Given the description of an element on the screen output the (x, y) to click on. 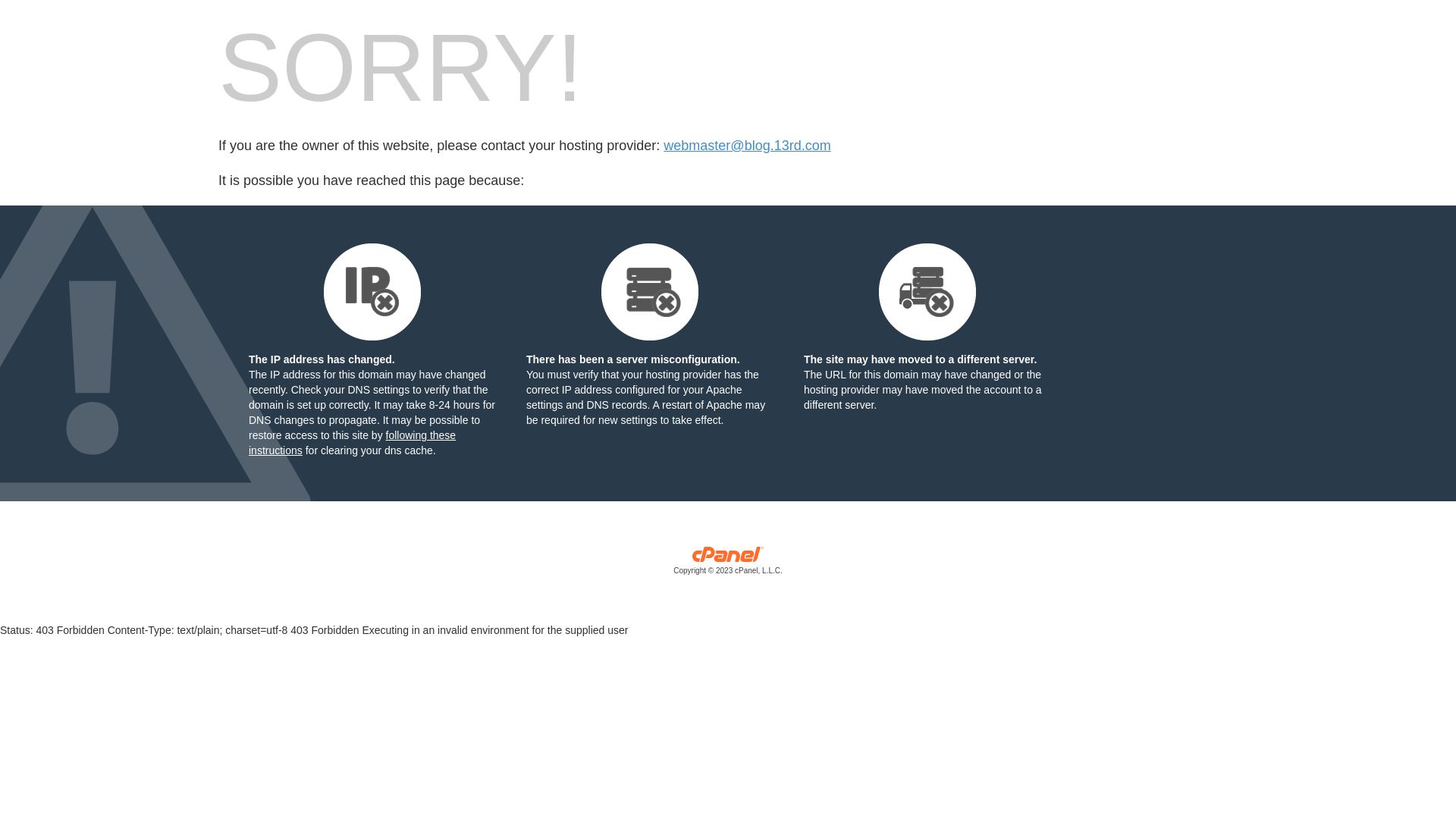
webmaster@blog.13rd.com Element type: text (746, 145)
following these instructions Element type: text (351, 442)
